Given the description of an element on the screen output the (x, y) to click on. 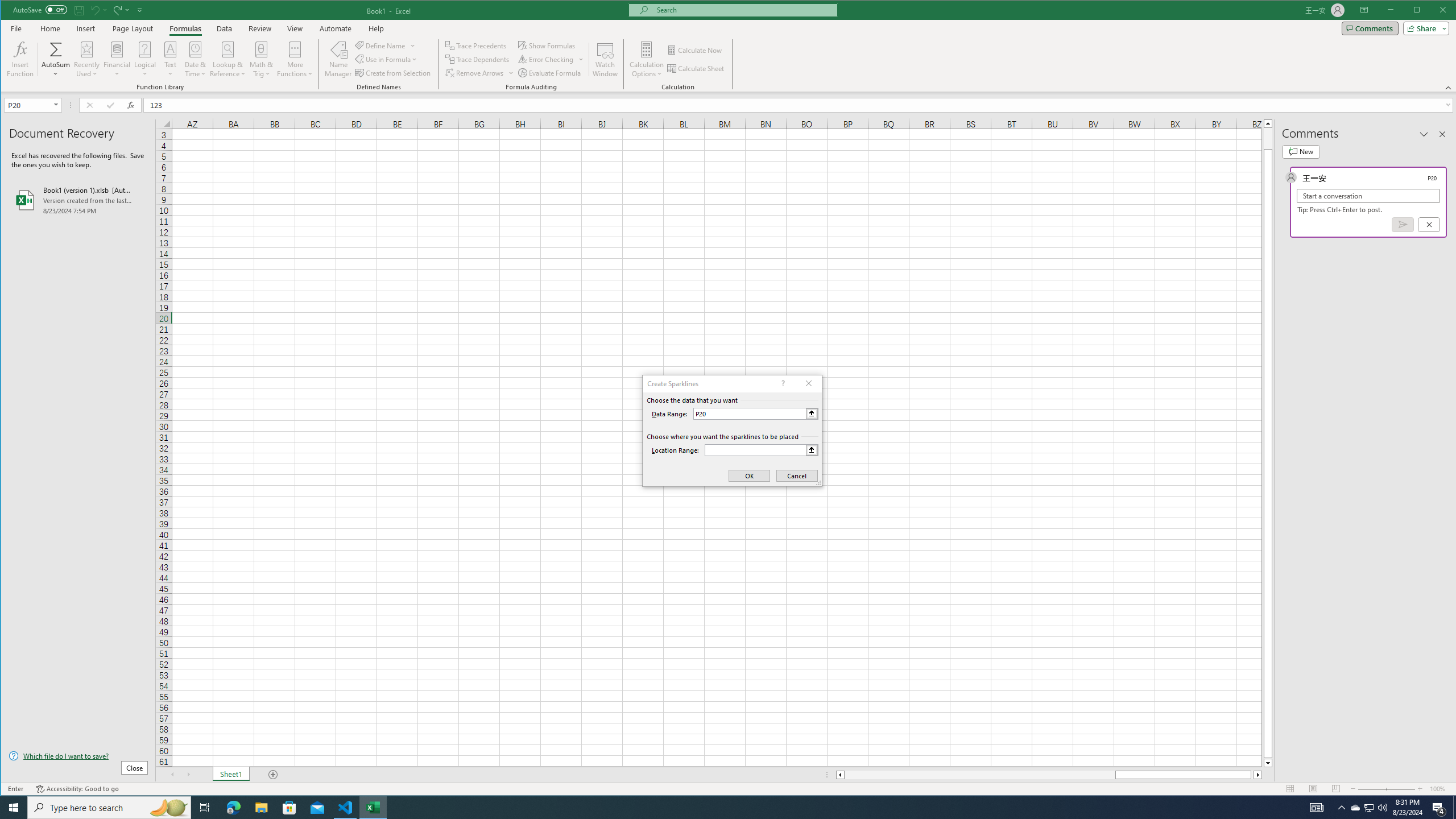
Which file do I want to save? (78, 755)
Error Checking... (551, 59)
Sum (55, 48)
